Given the description of an element on the screen output the (x, y) to click on. 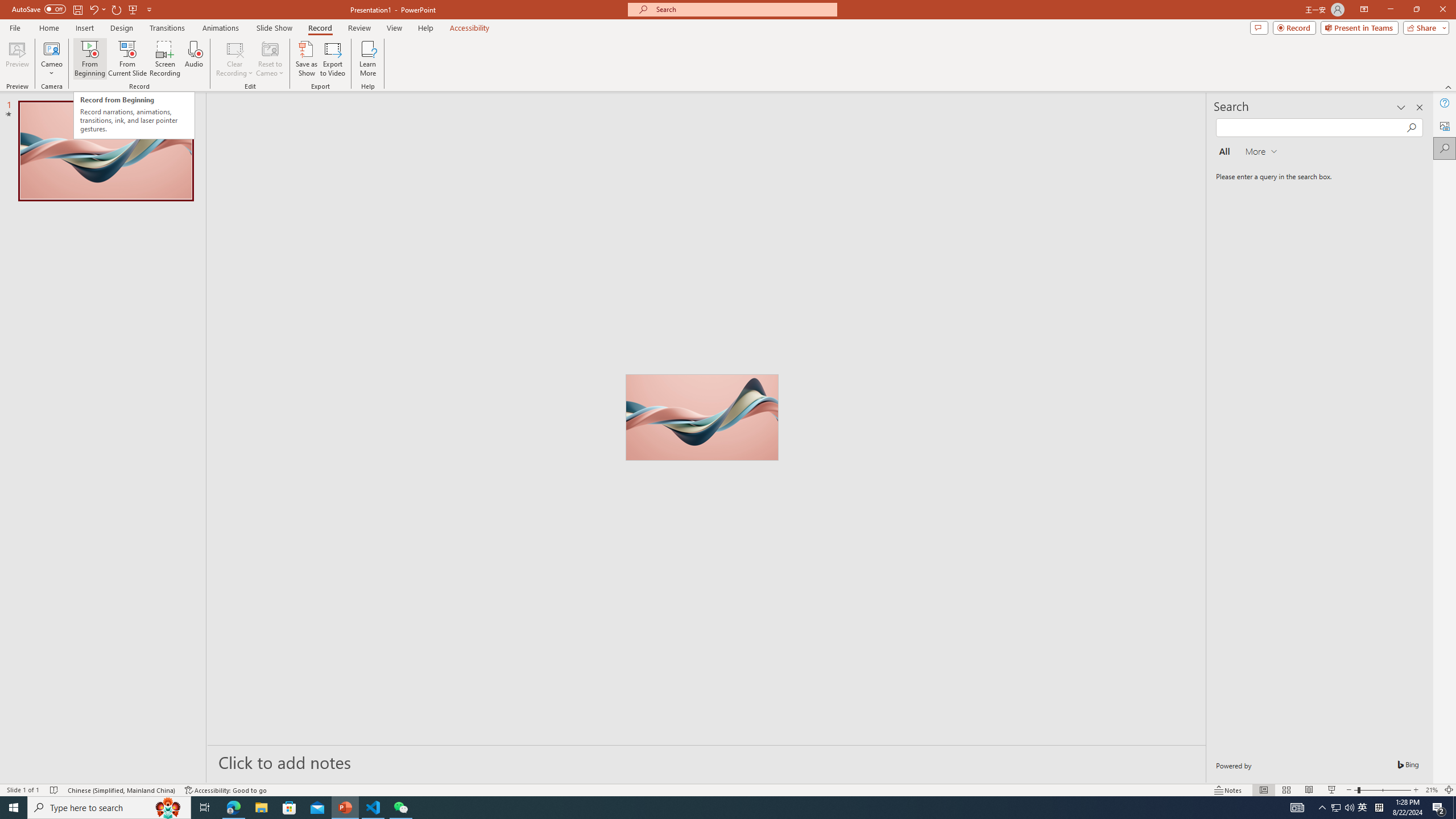
Accessibility Checker Accessibility: Good to go (226, 790)
Learn More (368, 58)
